Given the description of an element on the screen output the (x, y) to click on. 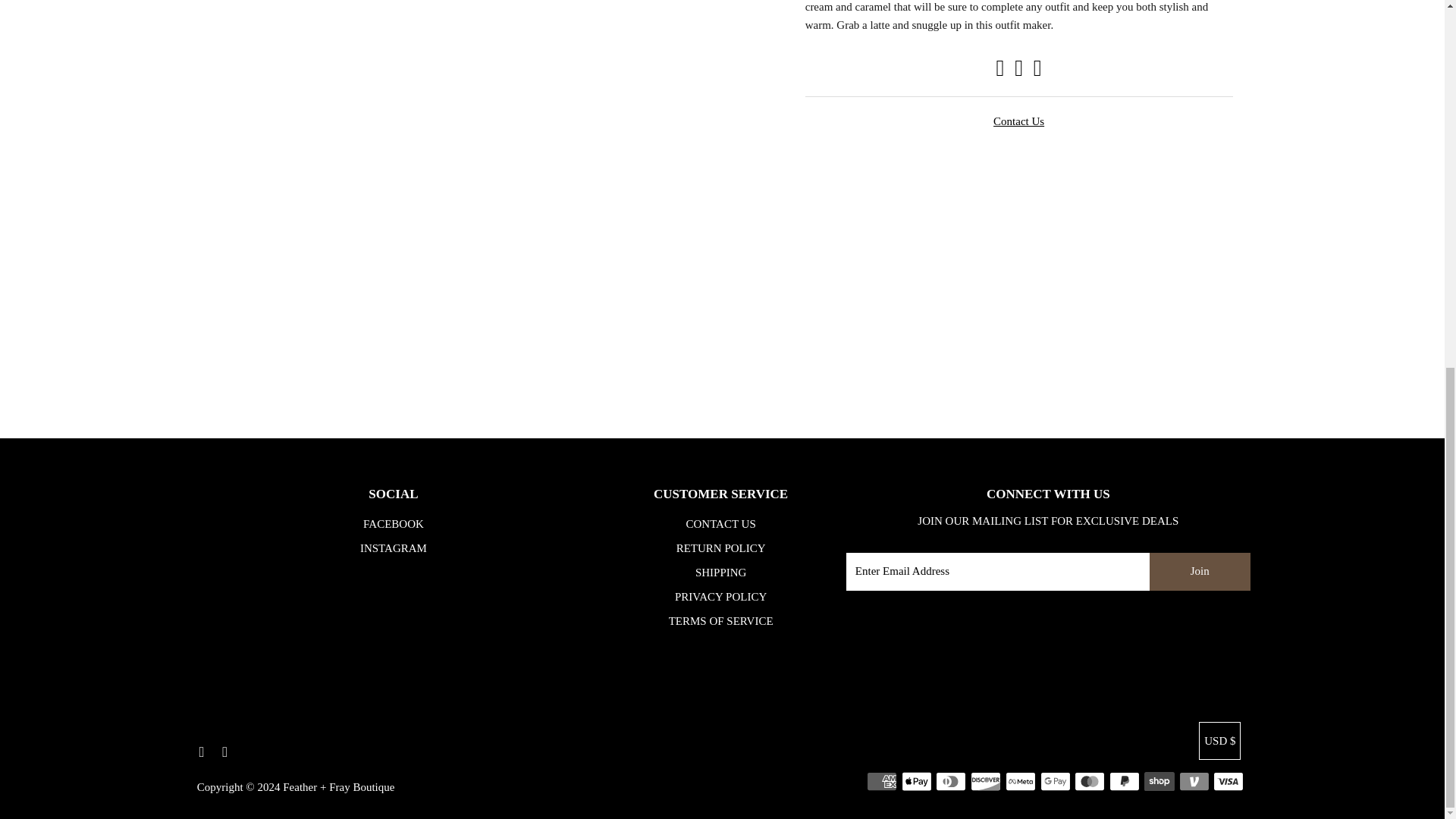
Diners Club (951, 781)
Google Pay (1055, 781)
Shop Pay (1159, 781)
Visa (1227, 781)
Join (1200, 571)
Venmo (1194, 781)
Meta Pay (1020, 781)
PayPal (1124, 781)
Discover (986, 781)
Mastercard (1089, 781)
